Given the description of an element on the screen output the (x, y) to click on. 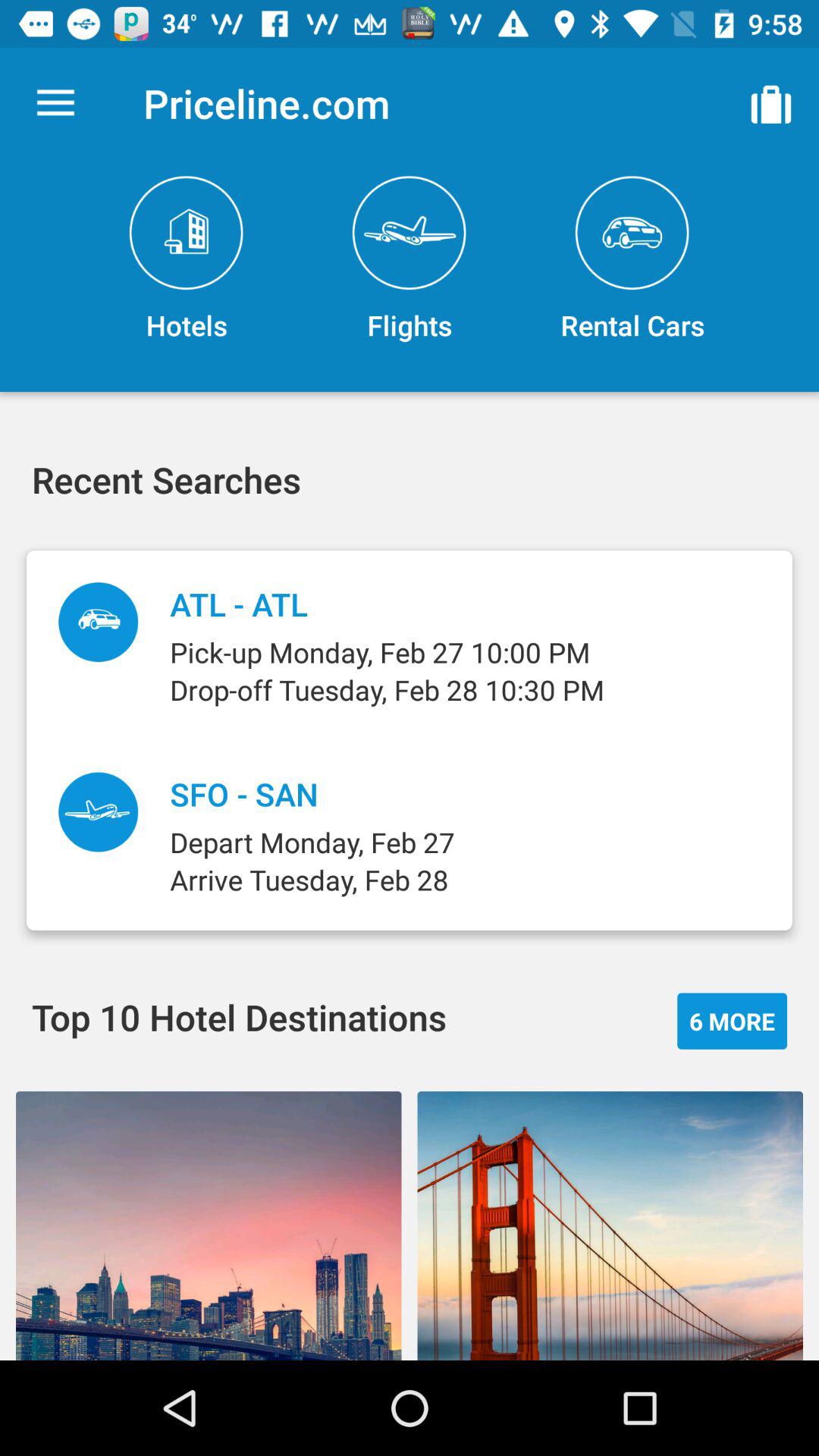
select item below rental cars item (732, 1021)
